Given the description of an element on the screen output the (x, y) to click on. 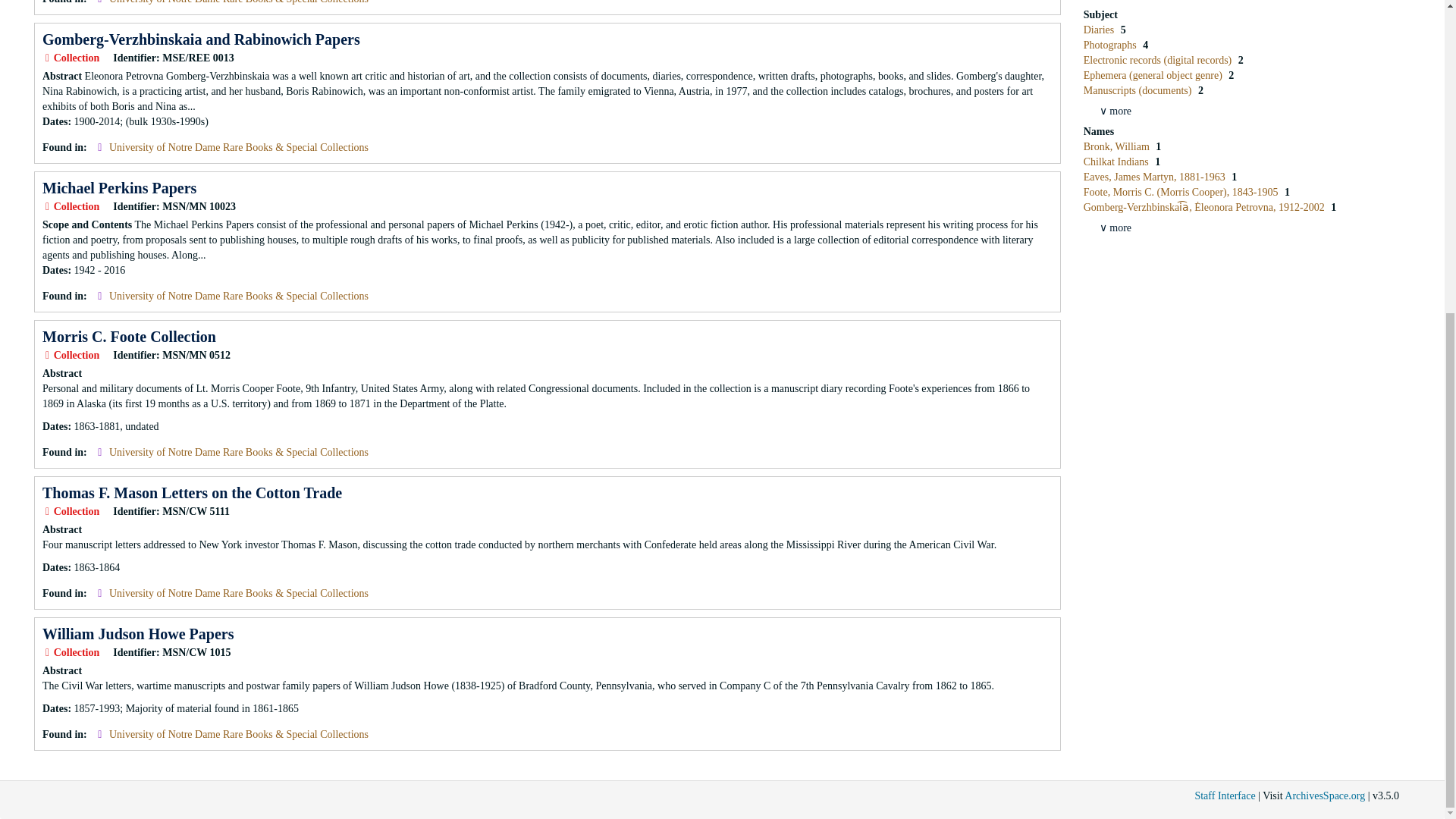
Filter By 'Diaries' (1099, 30)
Thomas F. Mason Letters on the Cotton Trade (192, 492)
Photographs (1111, 44)
Michael Perkins Papers (119, 187)
Filter By 'Photographs' (1111, 44)
Gomberg-Verzhbinskaia and Rabinowich Papers (200, 39)
William Judson Howe Papers (137, 633)
Diaries (1099, 30)
Morris C. Foote Collection (128, 336)
